Given the description of an element on the screen output the (x, y) to click on. 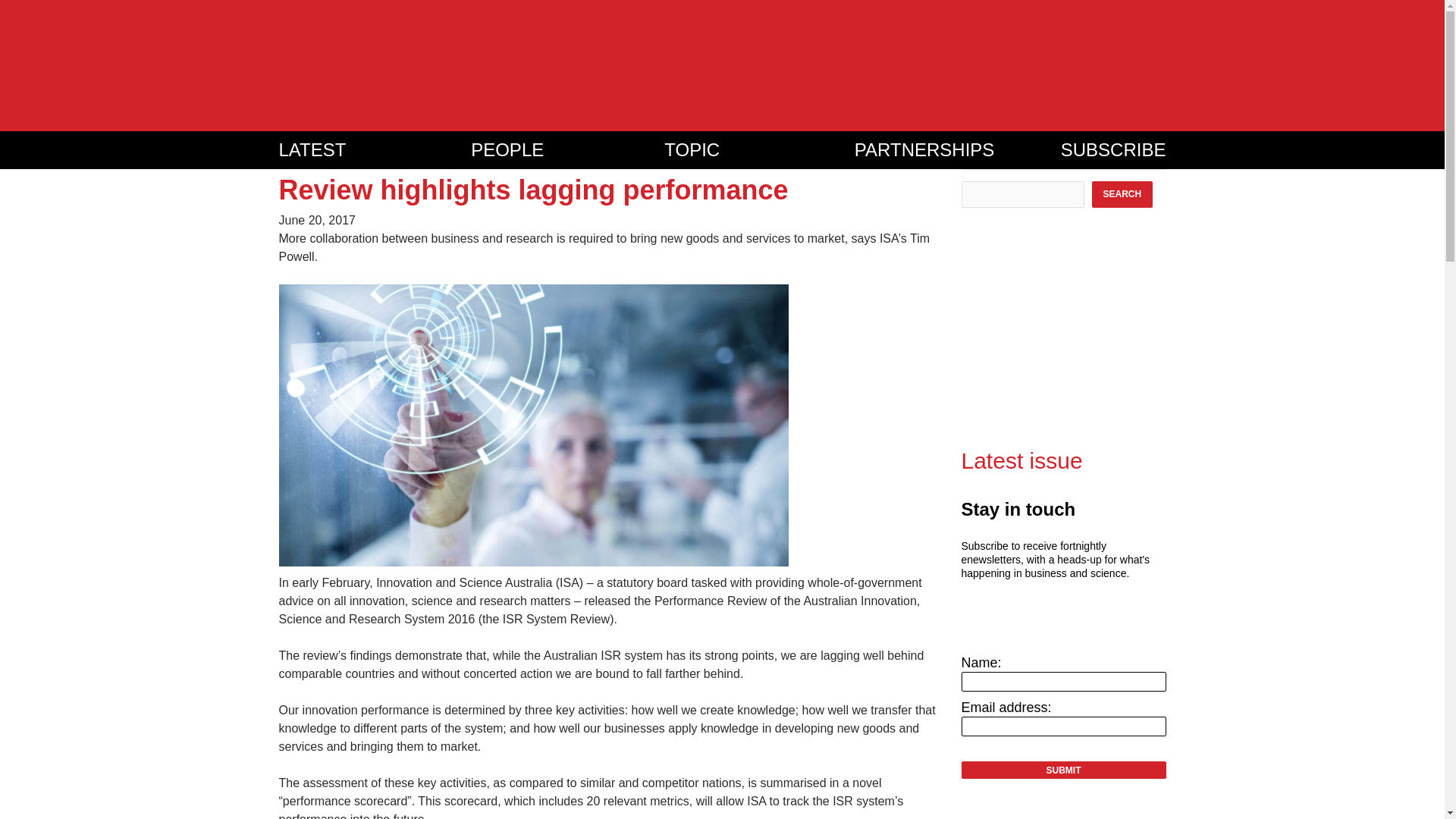
Search (1122, 194)
LATEST (375, 149)
Submit (1063, 769)
SUBSCRIBE (1113, 149)
PEOPLE (566, 149)
PARTNERSHIPS (957, 149)
TOPIC (758, 149)
